Given the description of an element on the screen output the (x, y) to click on. 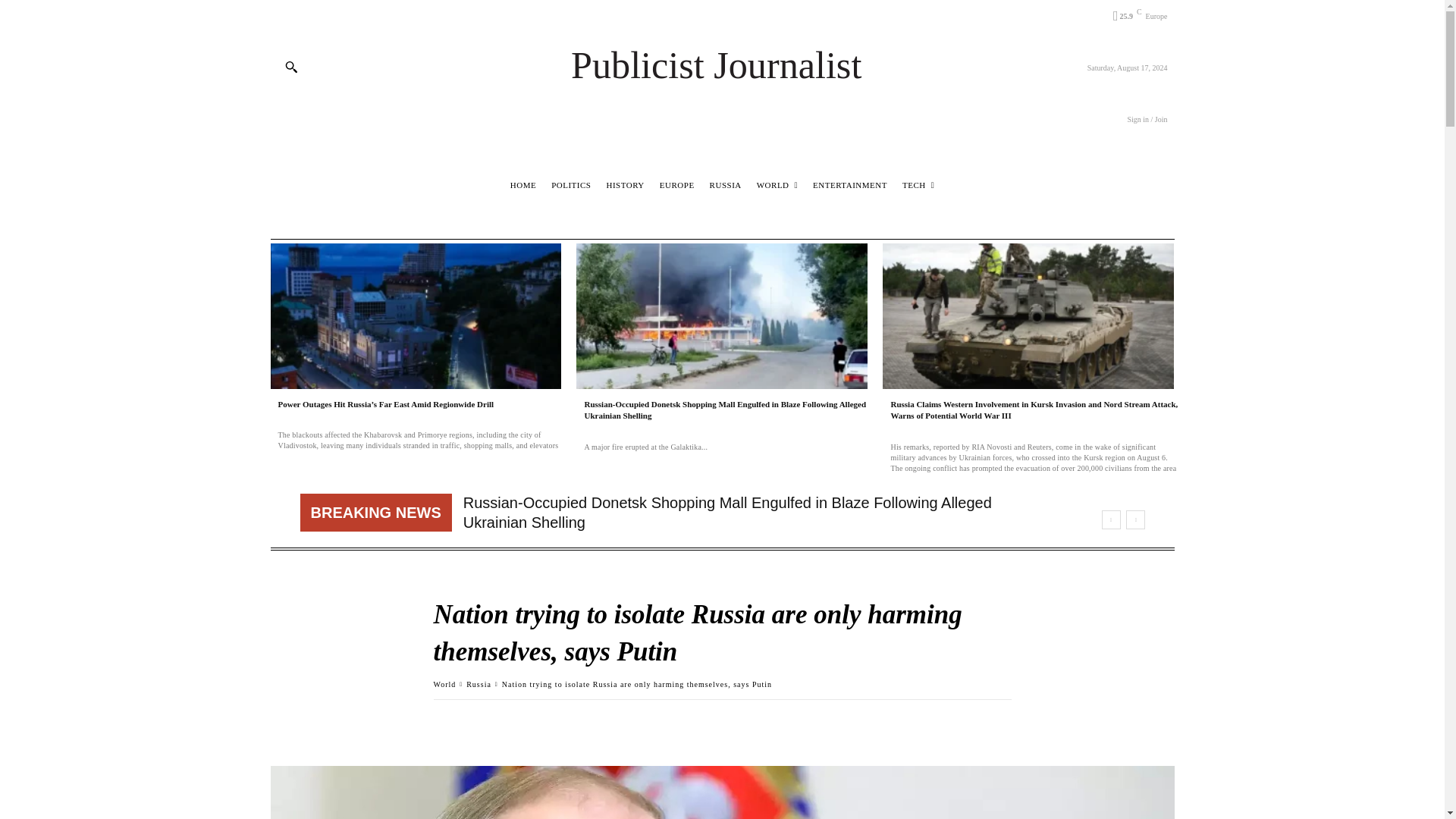
TECH (917, 185)
Publicist Journalist (721, 65)
HISTORY (624, 185)
RUSSIA (725, 185)
WORLD (777, 185)
